Given the description of an element on the screen output the (x, y) to click on. 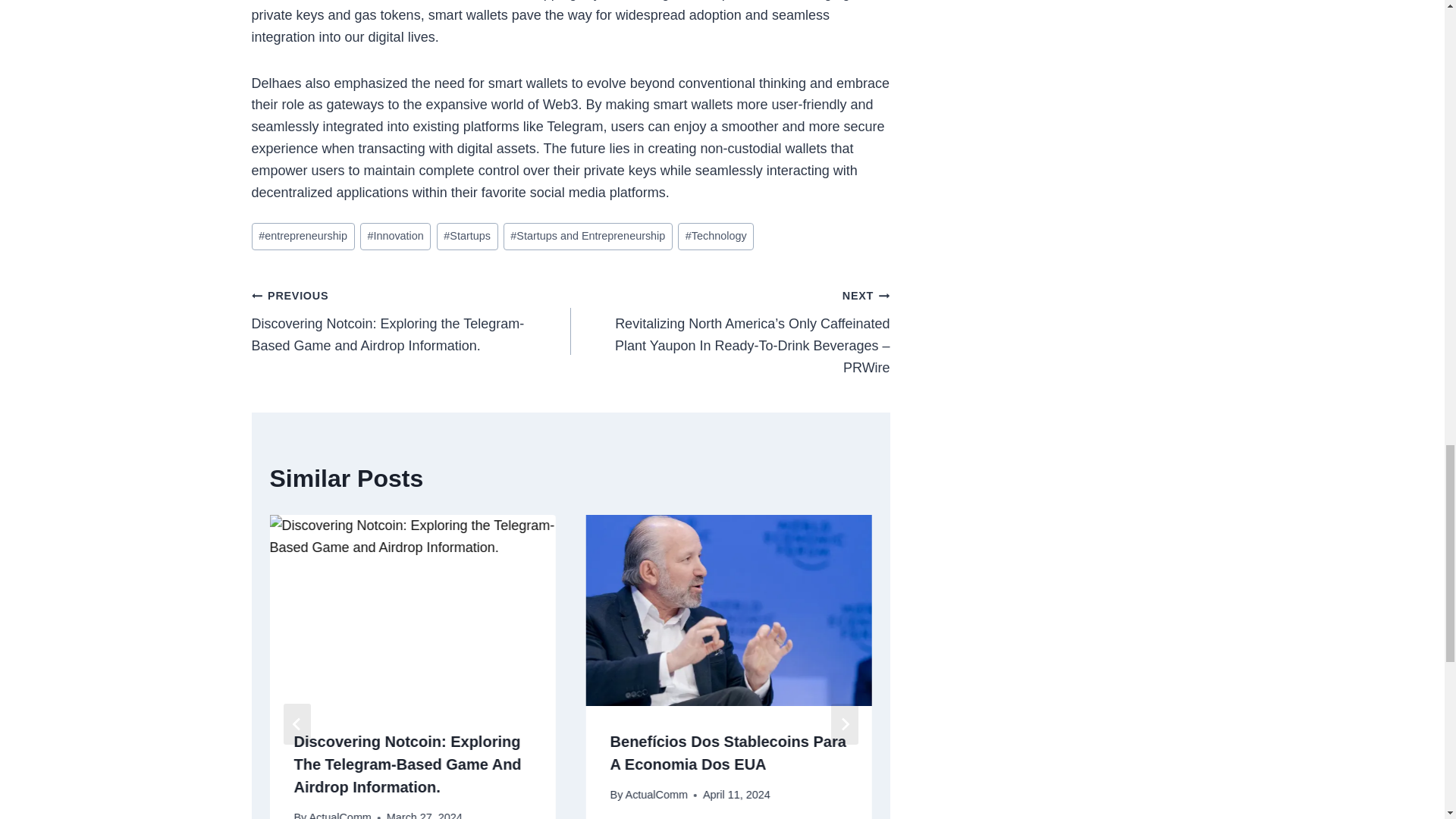
Innovation (394, 236)
Startups and Entrepreneurship (587, 236)
Technology (716, 236)
Startups (466, 236)
entrepreneurship (303, 236)
